Given the description of an element on the screen output the (x, y) to click on. 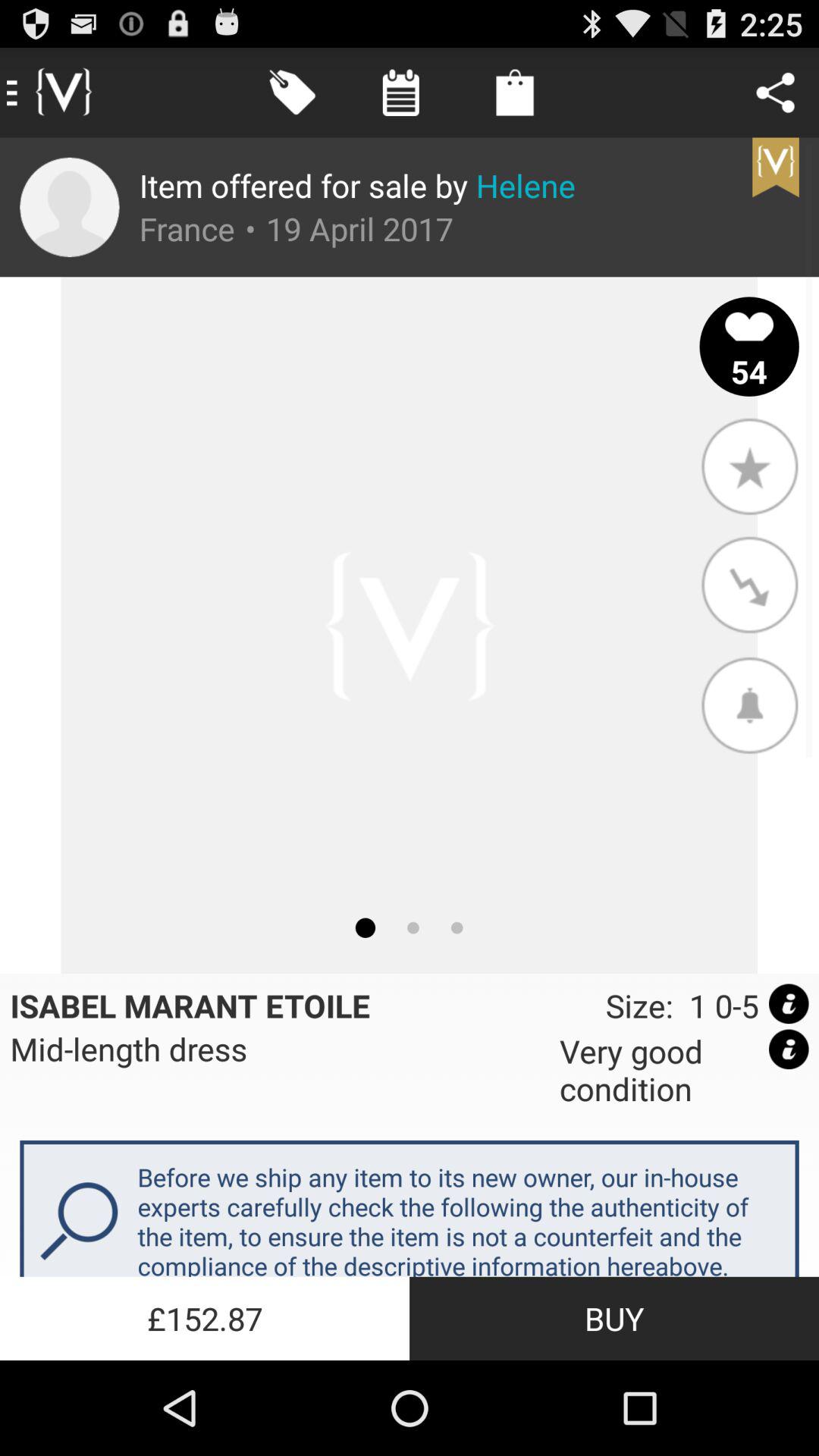
launch the app to the left of the item offered for app (69, 207)
